Given the description of an element on the screen output the (x, y) to click on. 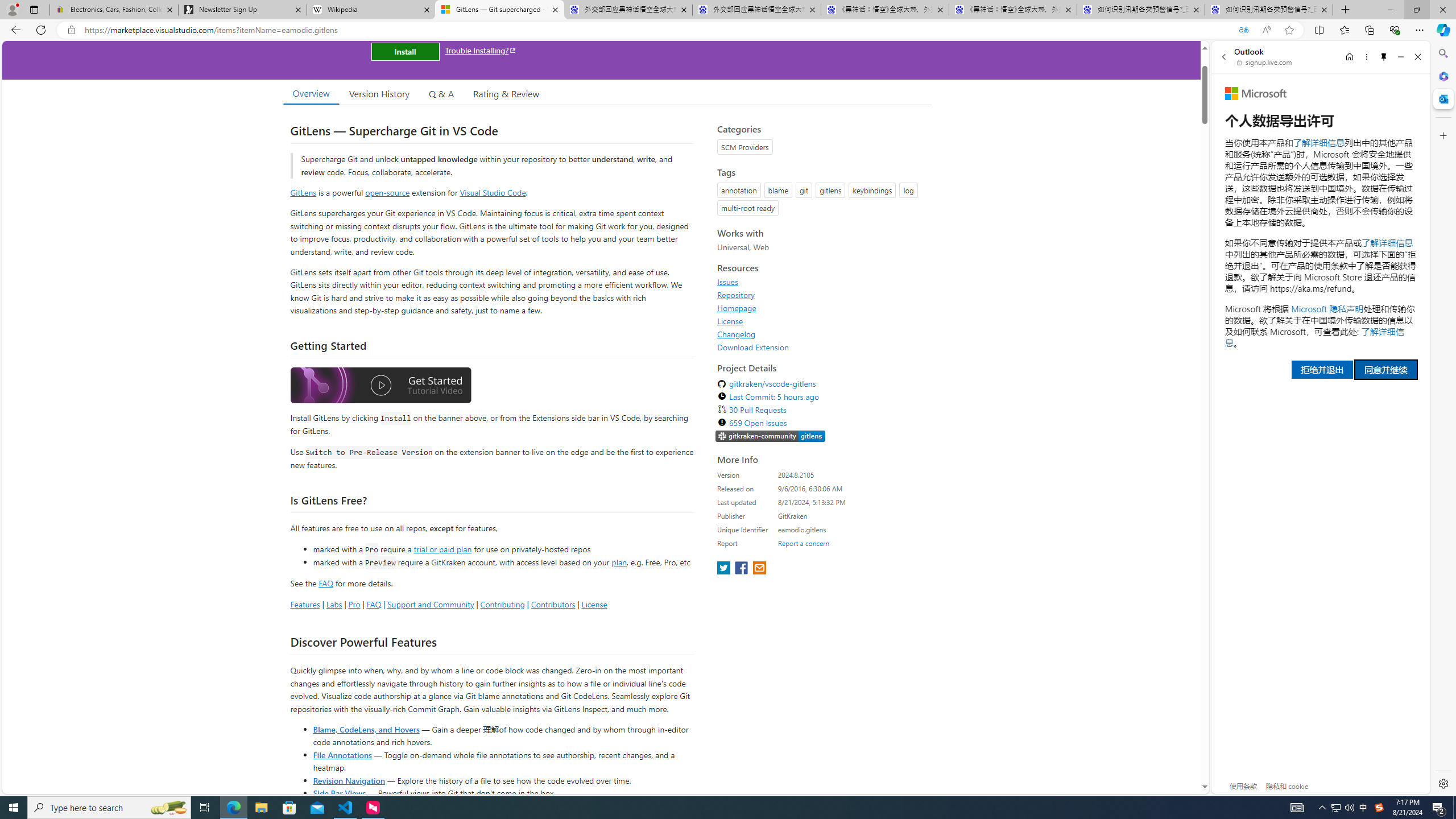
Version History (379, 92)
License (820, 320)
FAQ (373, 603)
Download Extension (820, 346)
